Given the description of an element on the screen output the (x, y) to click on. 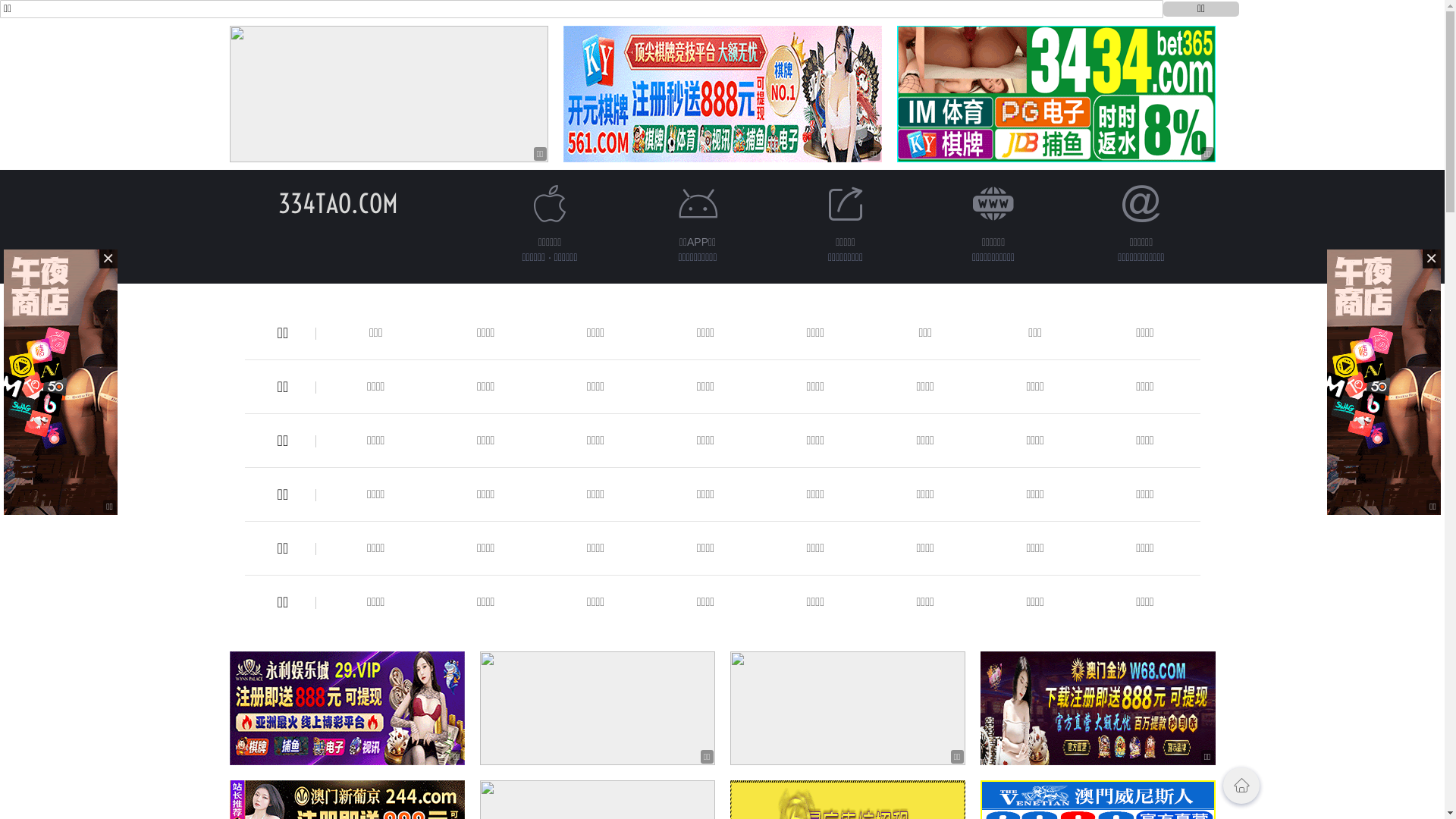
334TAO.COM Element type: text (337, 203)
